Given the description of an element on the screen output the (x, y) to click on. 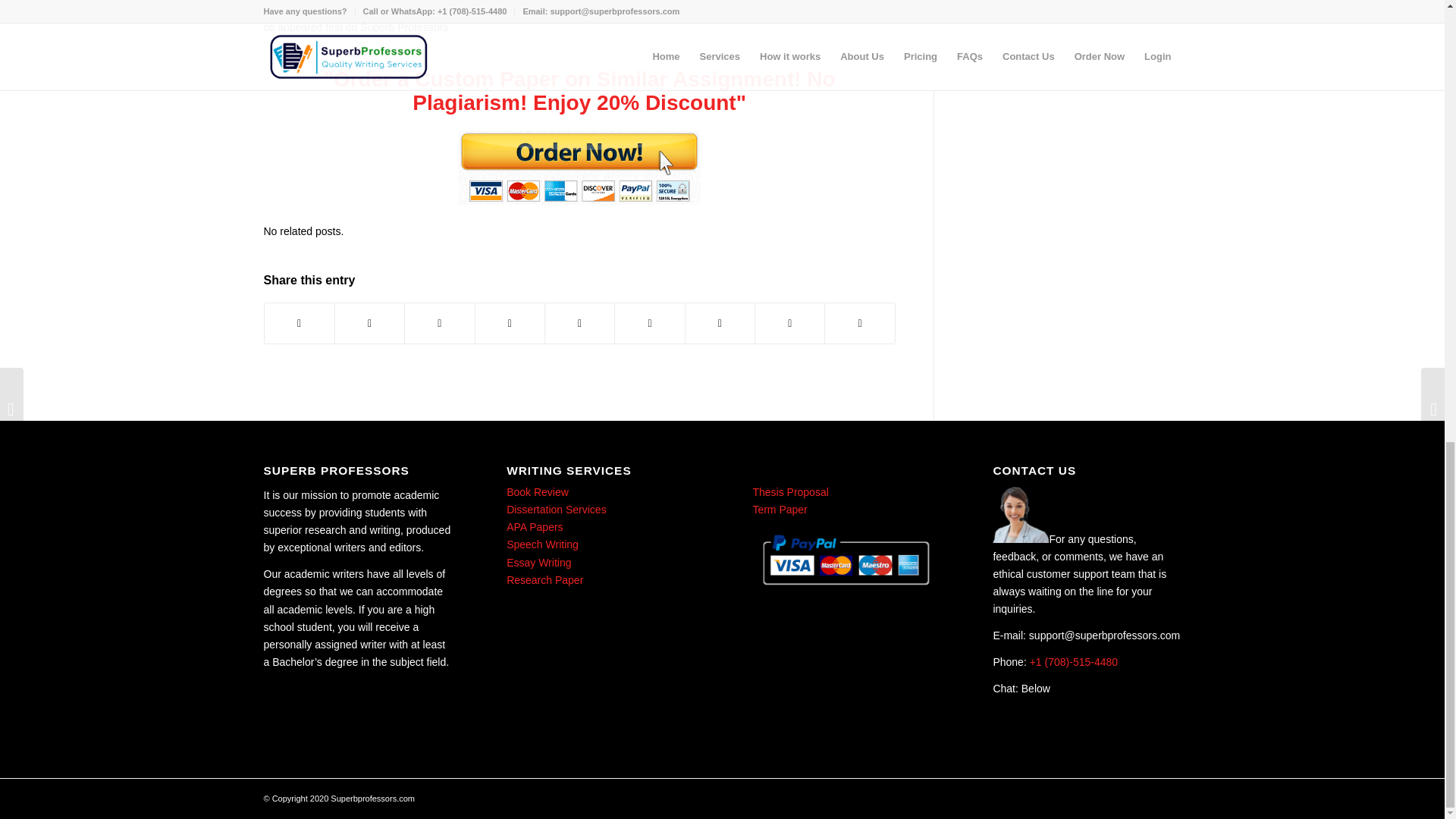
Book Review (537, 491)
Speech Writing (542, 544)
Dissertation Services (556, 509)
 Thesis Proposal (788, 491)
Research Paper (544, 580)
Essay Writing (538, 562)
 Term Paper (778, 509)
APA Papers (534, 526)
